Given the description of an element on the screen output the (x, y) to click on. 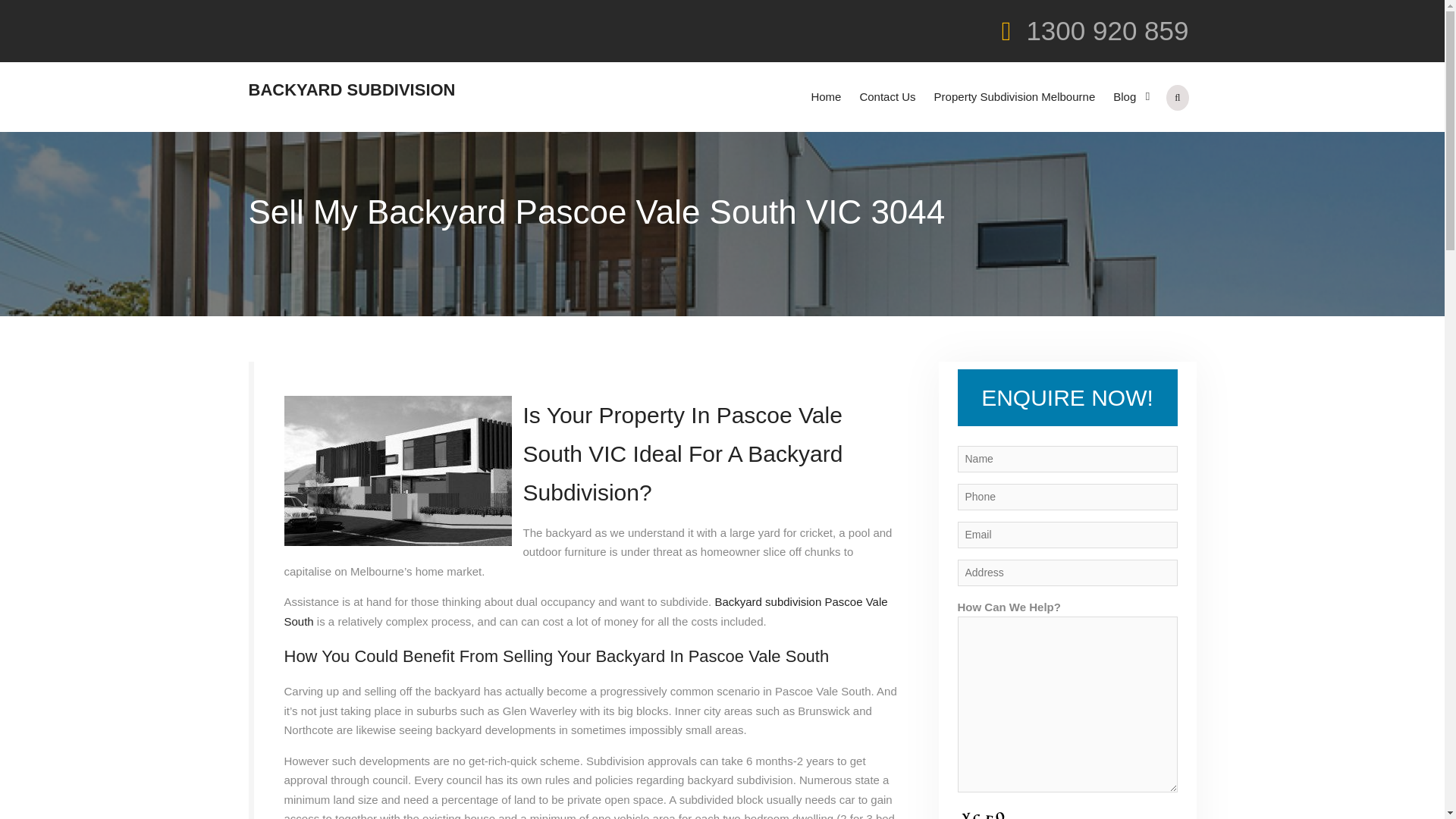
Blog (1128, 96)
1300 920 859 (1107, 30)
Property Subdivision Melbourne (1014, 96)
Backyard subdivision Pascoe Vale South (584, 611)
BACKYARD SUBDIVISION (351, 89)
Contact Us (887, 96)
